Given the description of an element on the screen output the (x, y) to click on. 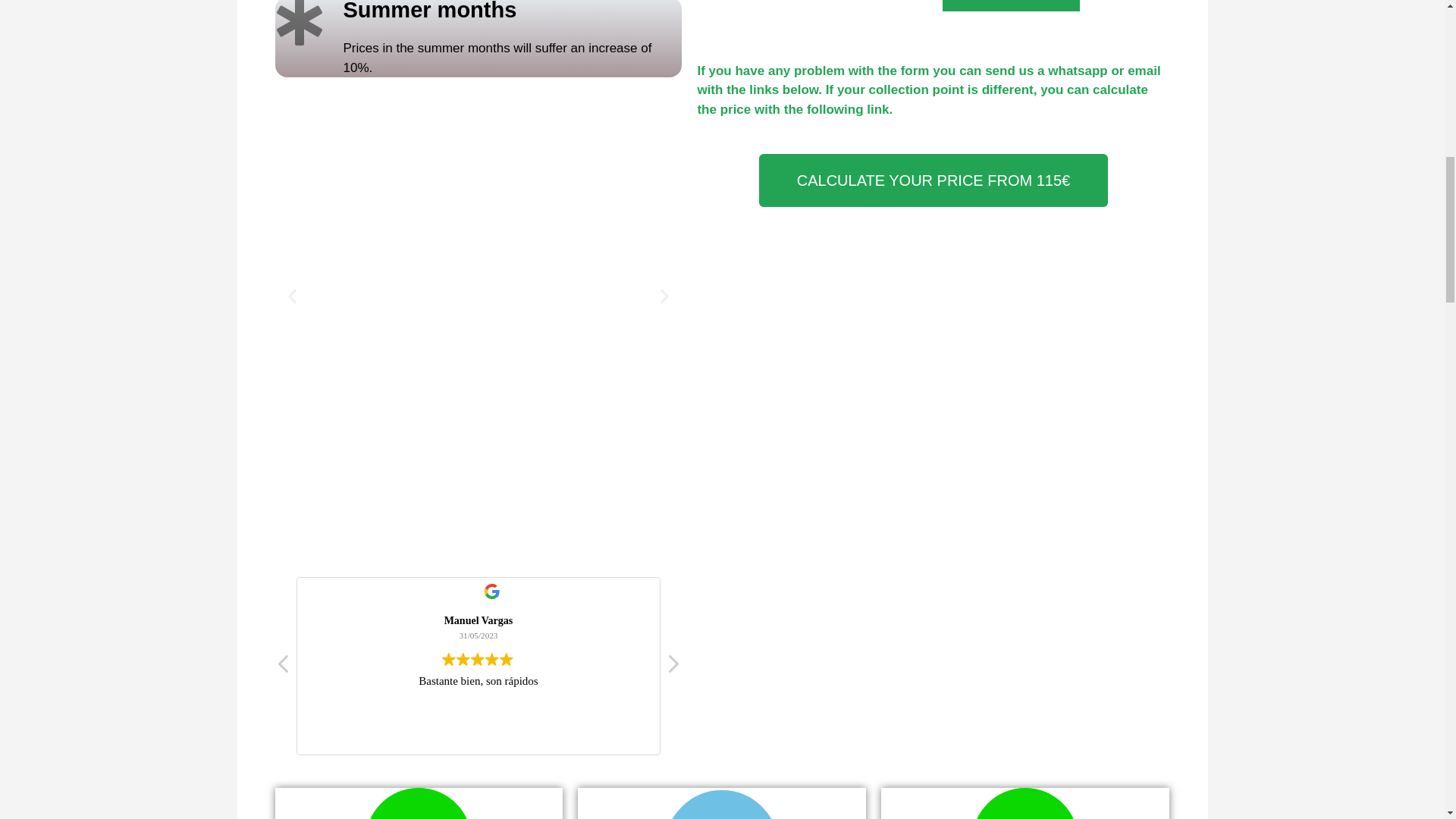
SEND YOUR BOOK (1010, 6)
SEND YOUR BOOK (1010, 6)
